Given the description of an element on the screen output the (x, y) to click on. 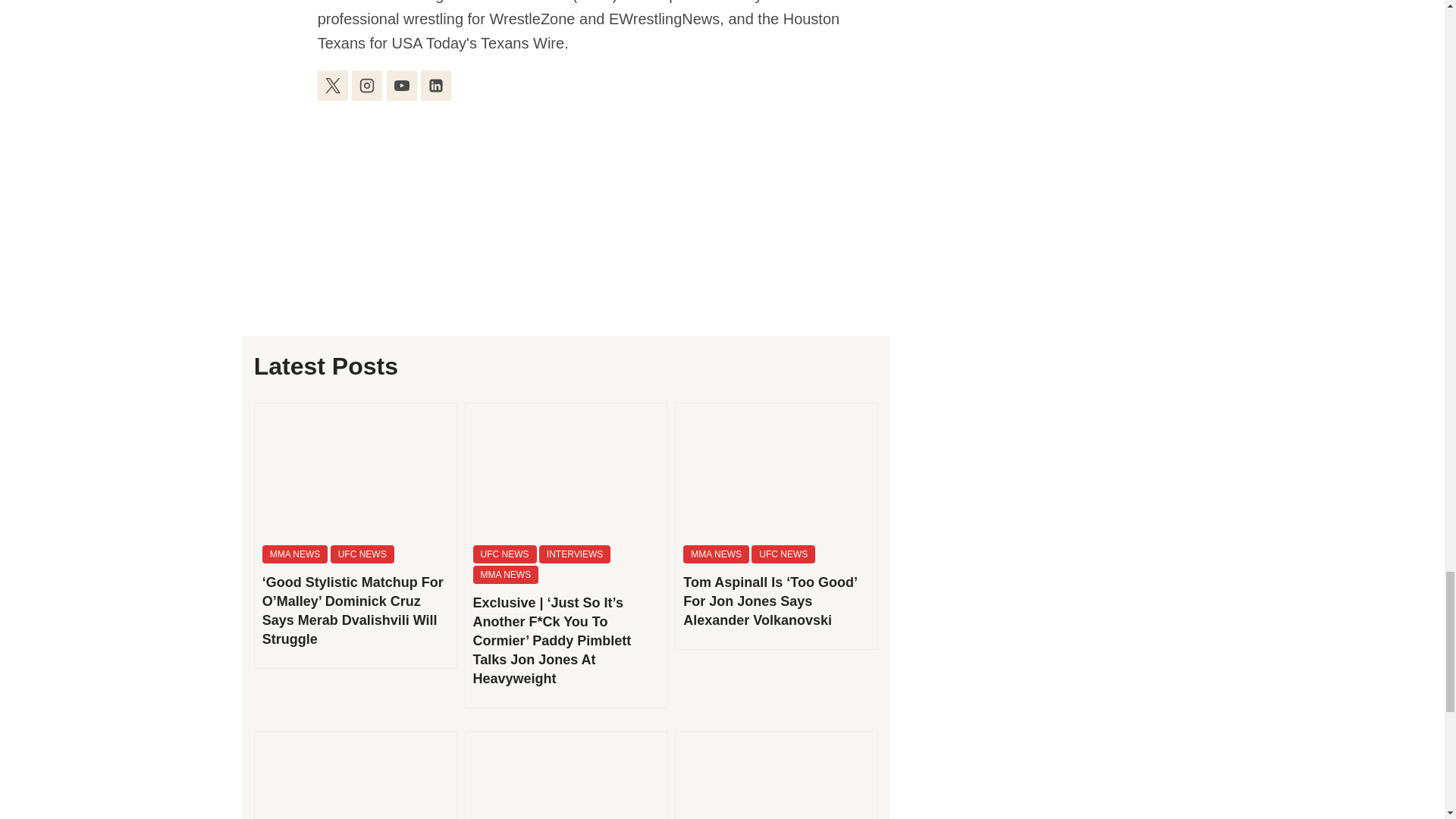
Follow Jon Fuentes on Instagram (366, 85)
Follow Jon Fuentes on Youtube (401, 85)
Follow Jon Fuentes on Linkedin (435, 85)
Follow Jon Fuentes on X formerly Twitter (332, 85)
